Given the description of an element on the screen output the (x, y) to click on. 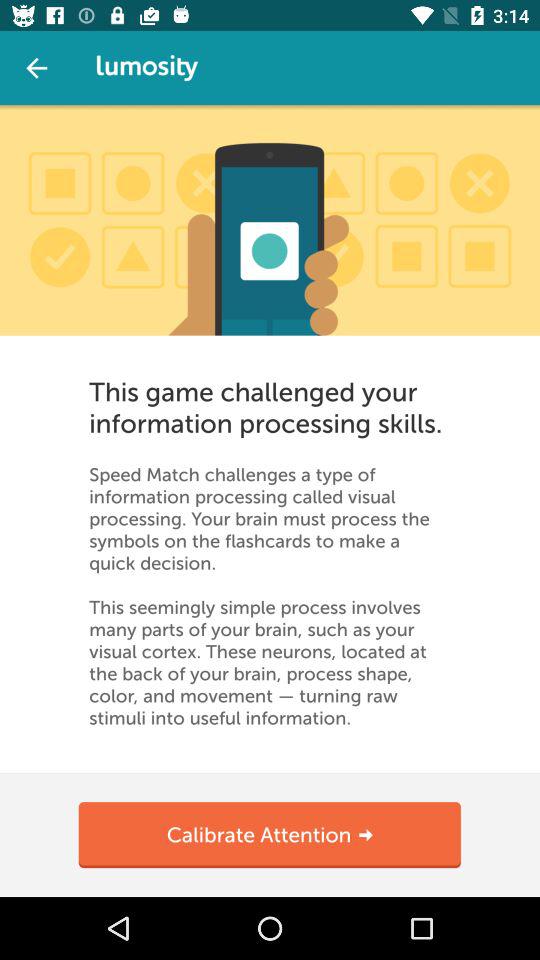
previous page (36, 68)
